Given the description of an element on the screen output the (x, y) to click on. 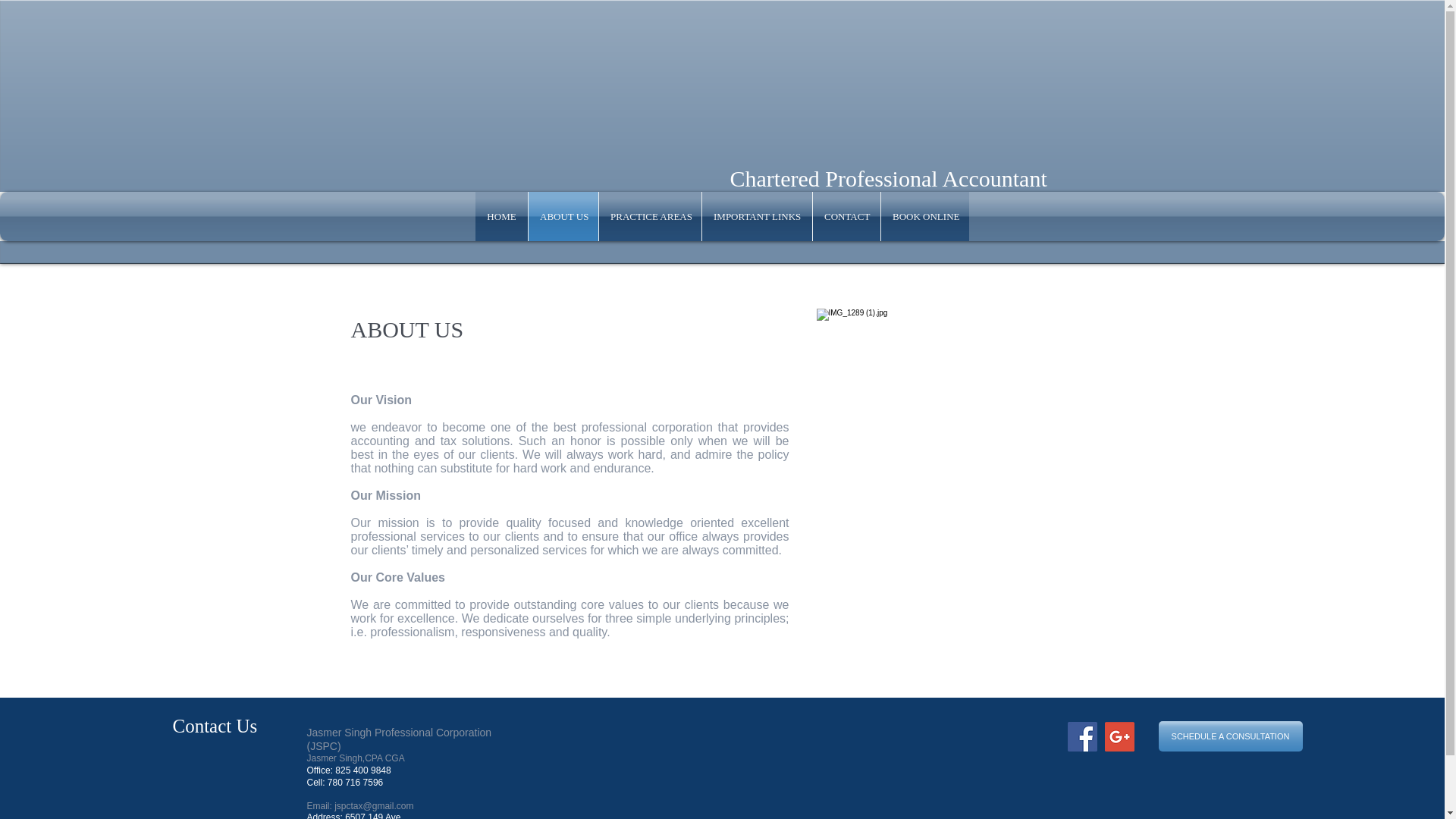
Pic 2.JPG (954, 485)
BOOK ONLINE (924, 215)
IMPORTANT LINKS (756, 215)
HOME (501, 215)
ABOUT US (563, 215)
CONTACT (846, 215)
SCHEDULE A CONSULTATION (1230, 736)
PRACTICE AREAS (649, 215)
